Given the description of an element on the screen output the (x, y) to click on. 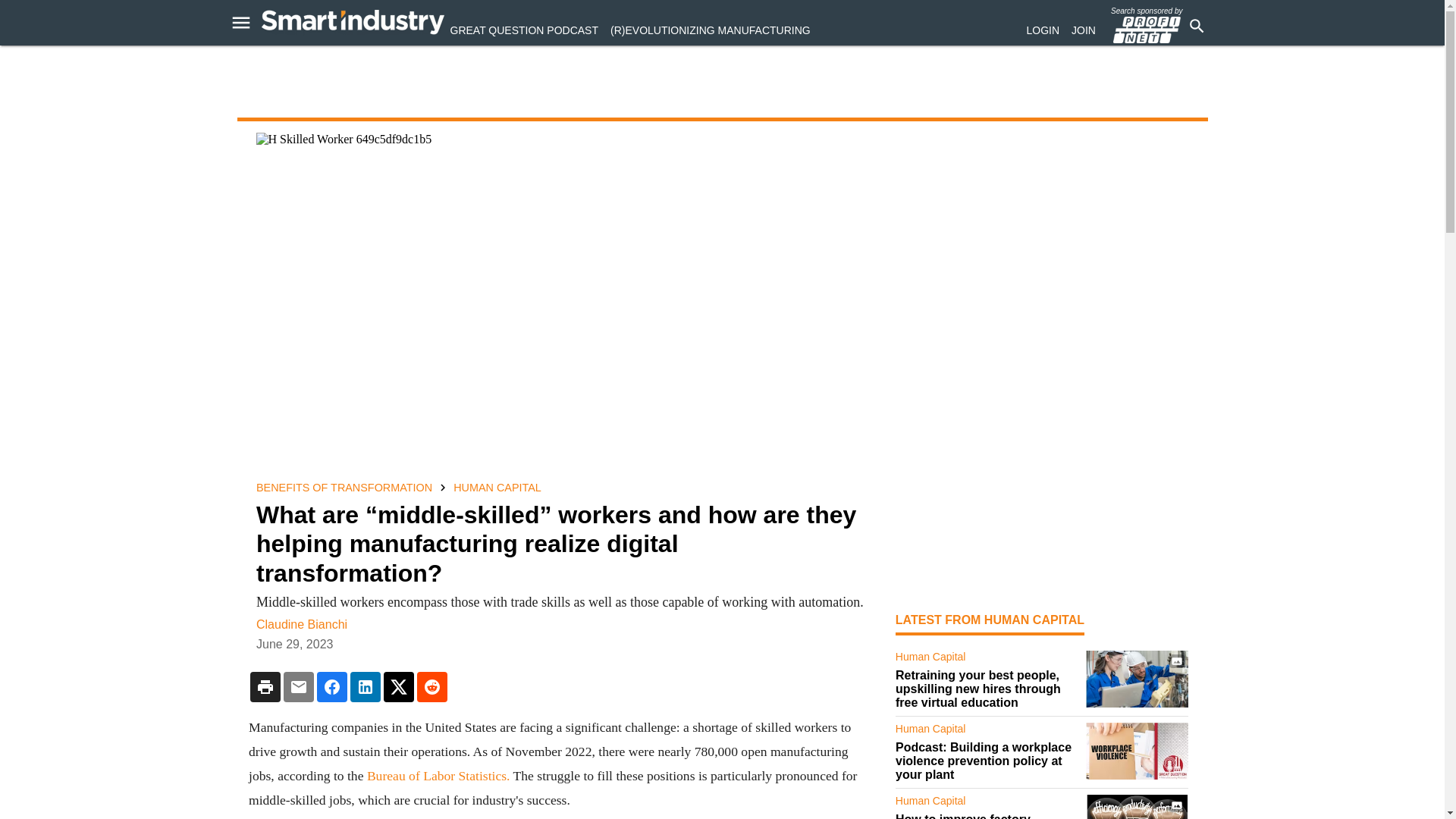
LOGIN (1042, 30)
JOIN (1083, 30)
GREAT QUESTION PODCAST (523, 30)
